Given the description of an element on the screen output the (x, y) to click on. 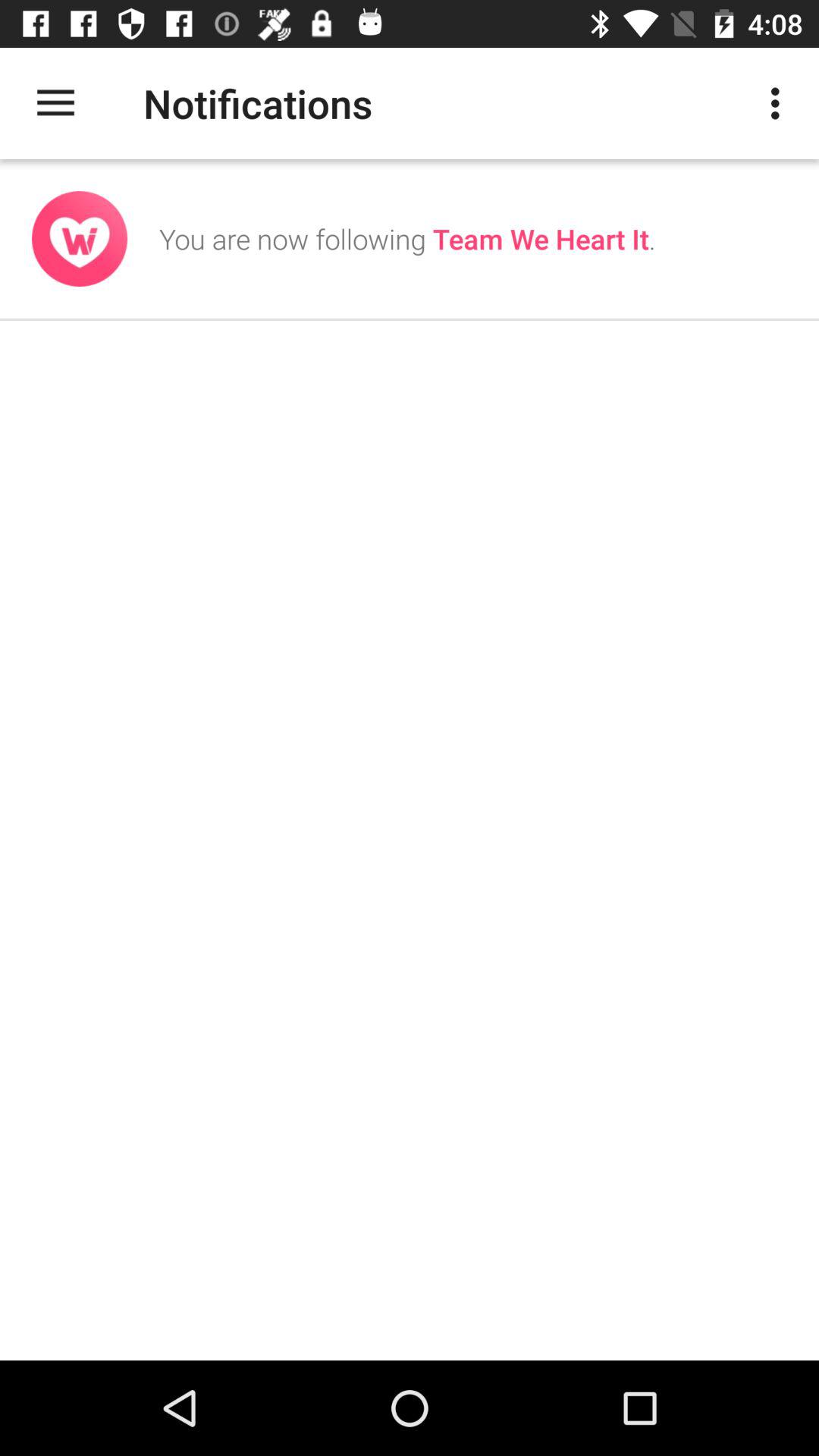
choose icon above the you are now item (779, 103)
